Given the description of an element on the screen output the (x, y) to click on. 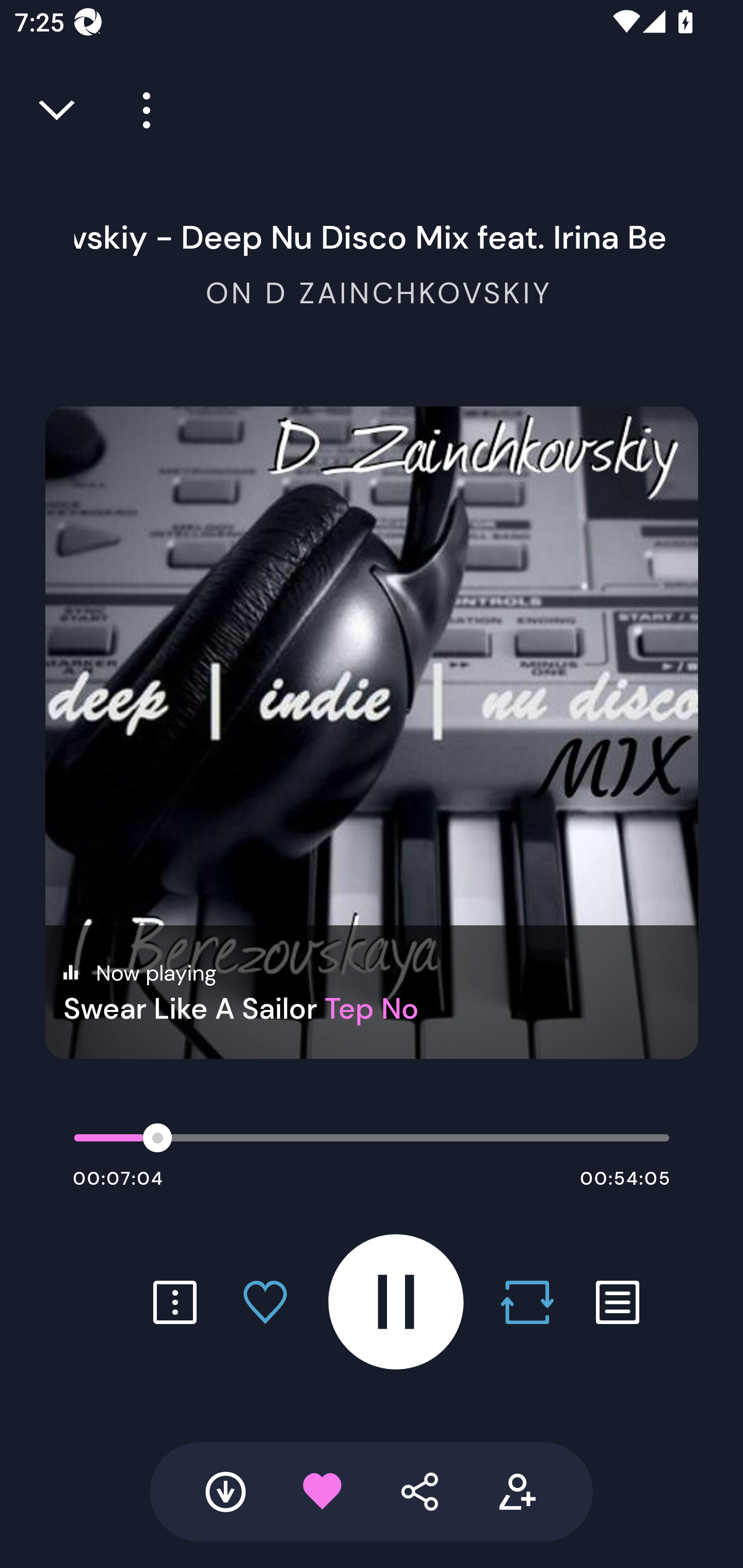
Close full player (58, 110)
Player more options button (139, 110)
Repost button (527, 1301)
